Given the description of an element on the screen output the (x, y) to click on. 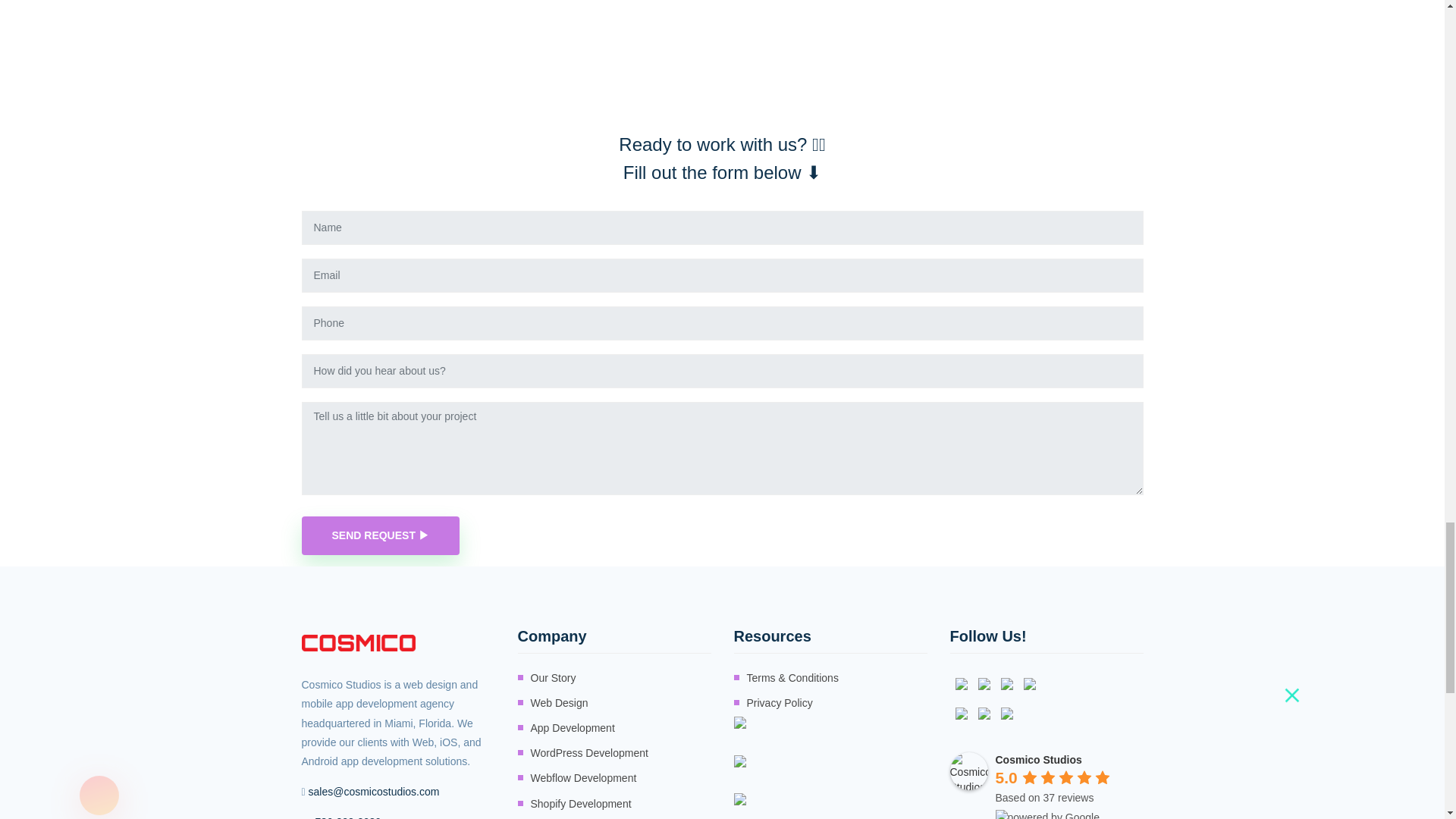
App Development (572, 728)
Web Design (559, 702)
WordPress Development (589, 752)
Our Story (553, 678)
Shopify Development (581, 804)
786-322-2080 (347, 816)
powered by Google (1046, 814)
Privacy Policy (778, 702)
Webflow Development (584, 778)
Cosmico Studios (968, 771)
